Given the description of an element on the screen output the (x, y) to click on. 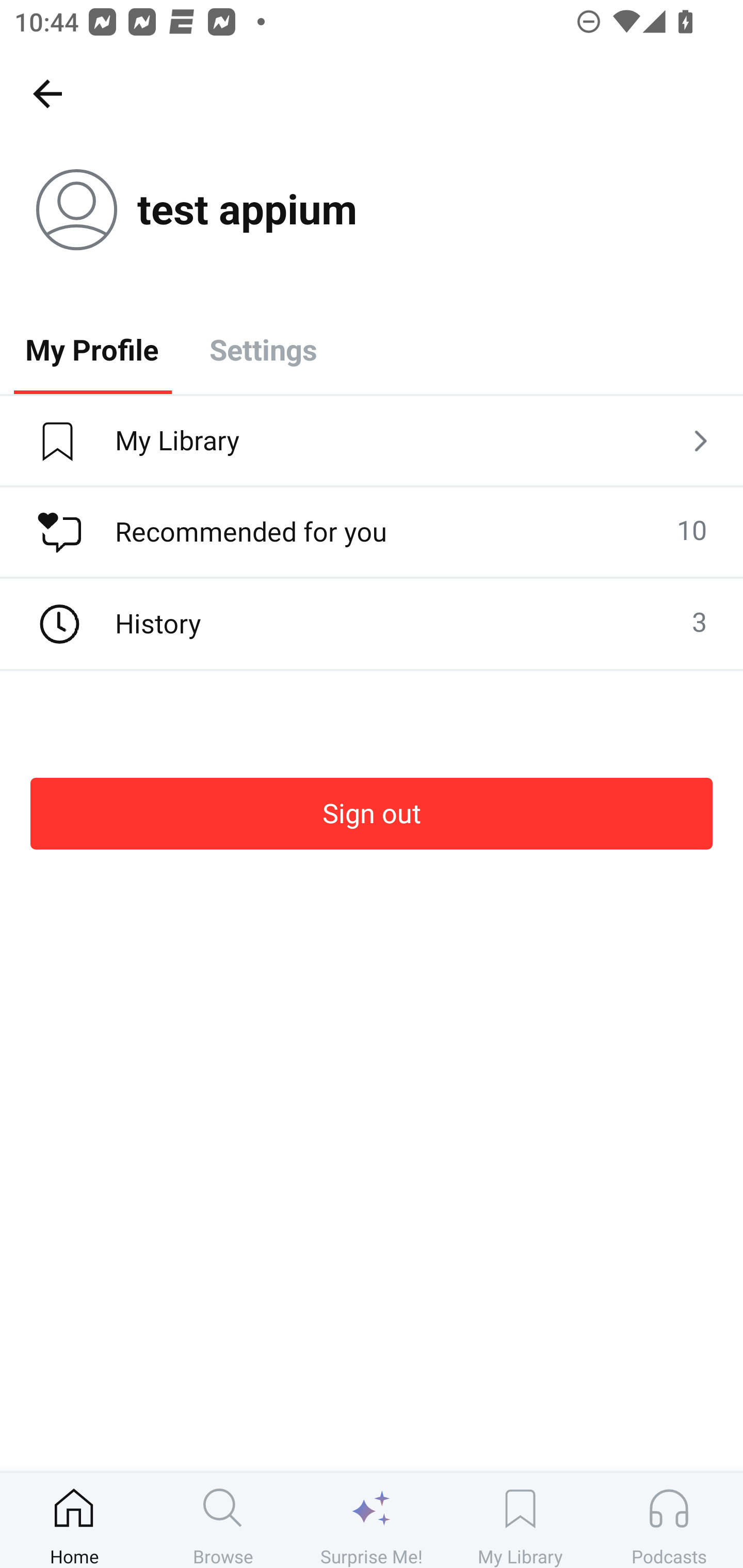
Home, back (47, 92)
My Profile (92, 348)
Settings (263, 348)
My Library (371, 441)
Recommended for you 10 (371, 532)
History 3 (371, 623)
Sign out (371, 813)
Home (74, 1520)
Browse (222, 1520)
Surprise Me! (371, 1520)
My Library (519, 1520)
Podcasts (668, 1520)
